Given the description of an element on the screen output the (x, y) to click on. 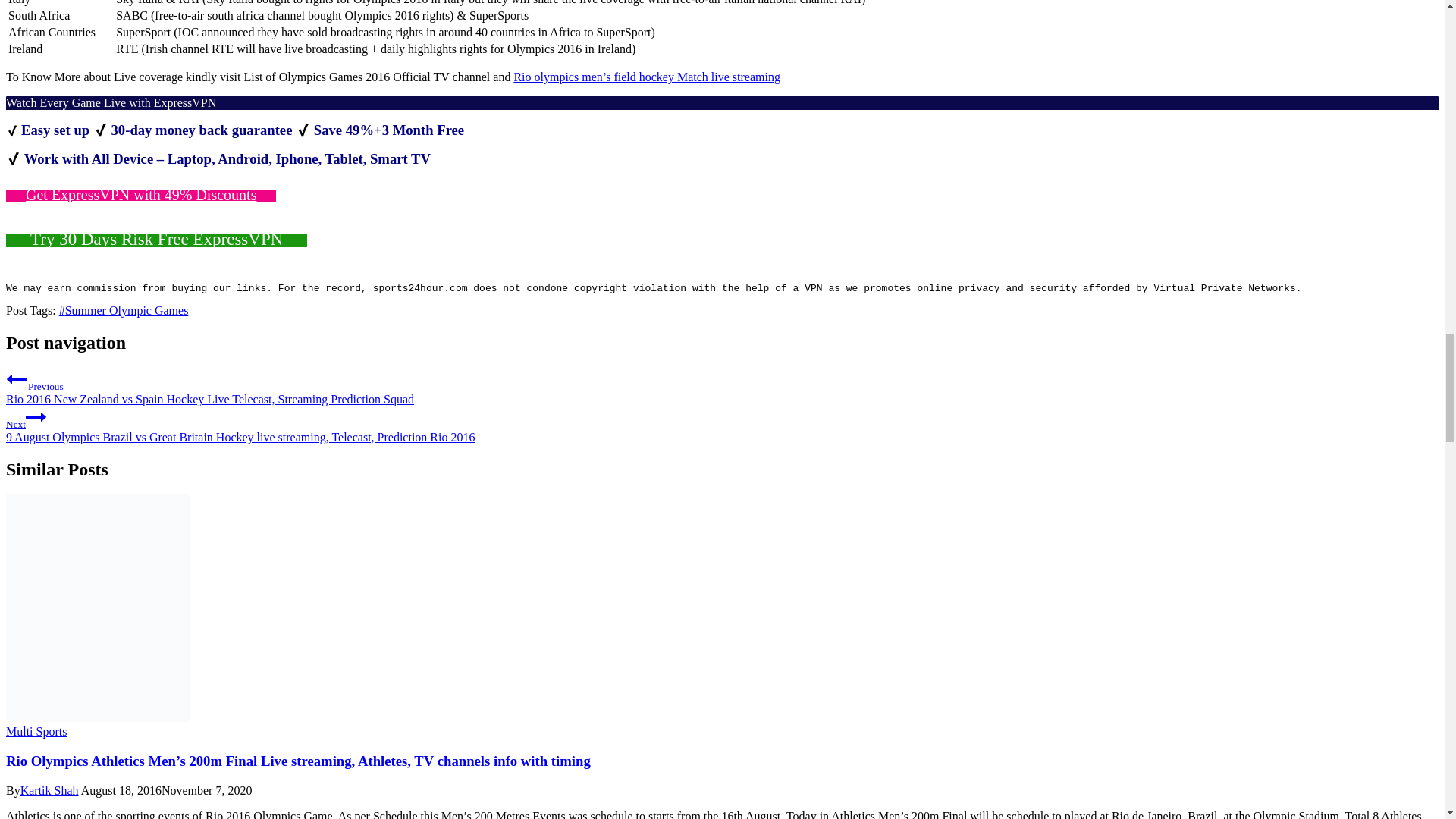
Continue (36, 416)
Previous (16, 378)
Try 30 Days Risk Free ExpressVPN (156, 240)
Summer Olympic Games (124, 309)
